Given the description of an element on the screen output the (x, y) to click on. 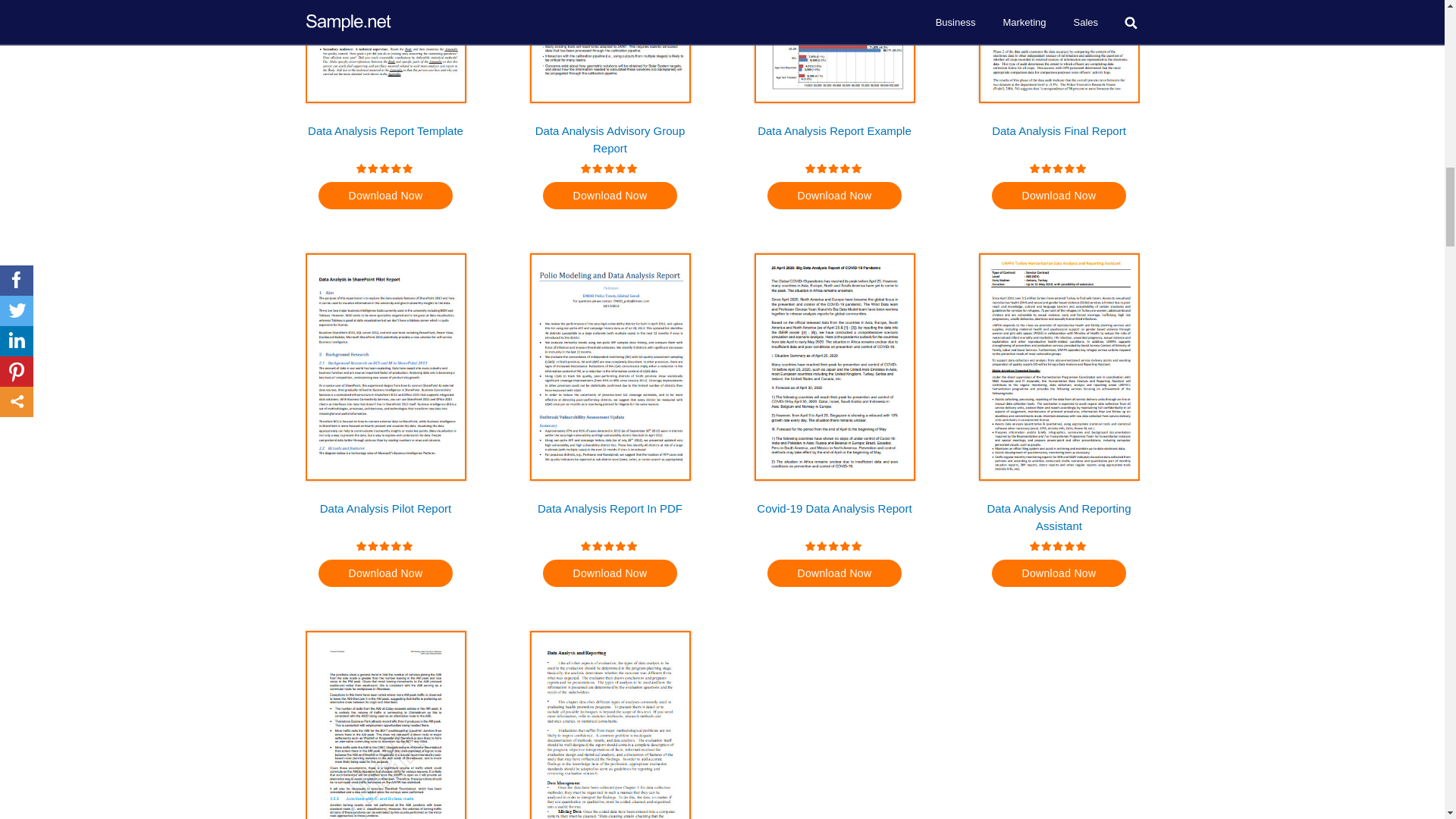
Download Now (385, 195)
Data Analysis Report Template (384, 138)
Data Analysis Final Report (1058, 138)
Download Now (834, 195)
Download Now (610, 195)
Data Analysis Advisory Group Report (609, 138)
Data Analysis Report Example (834, 138)
